Given the description of an element on the screen output the (x, y) to click on. 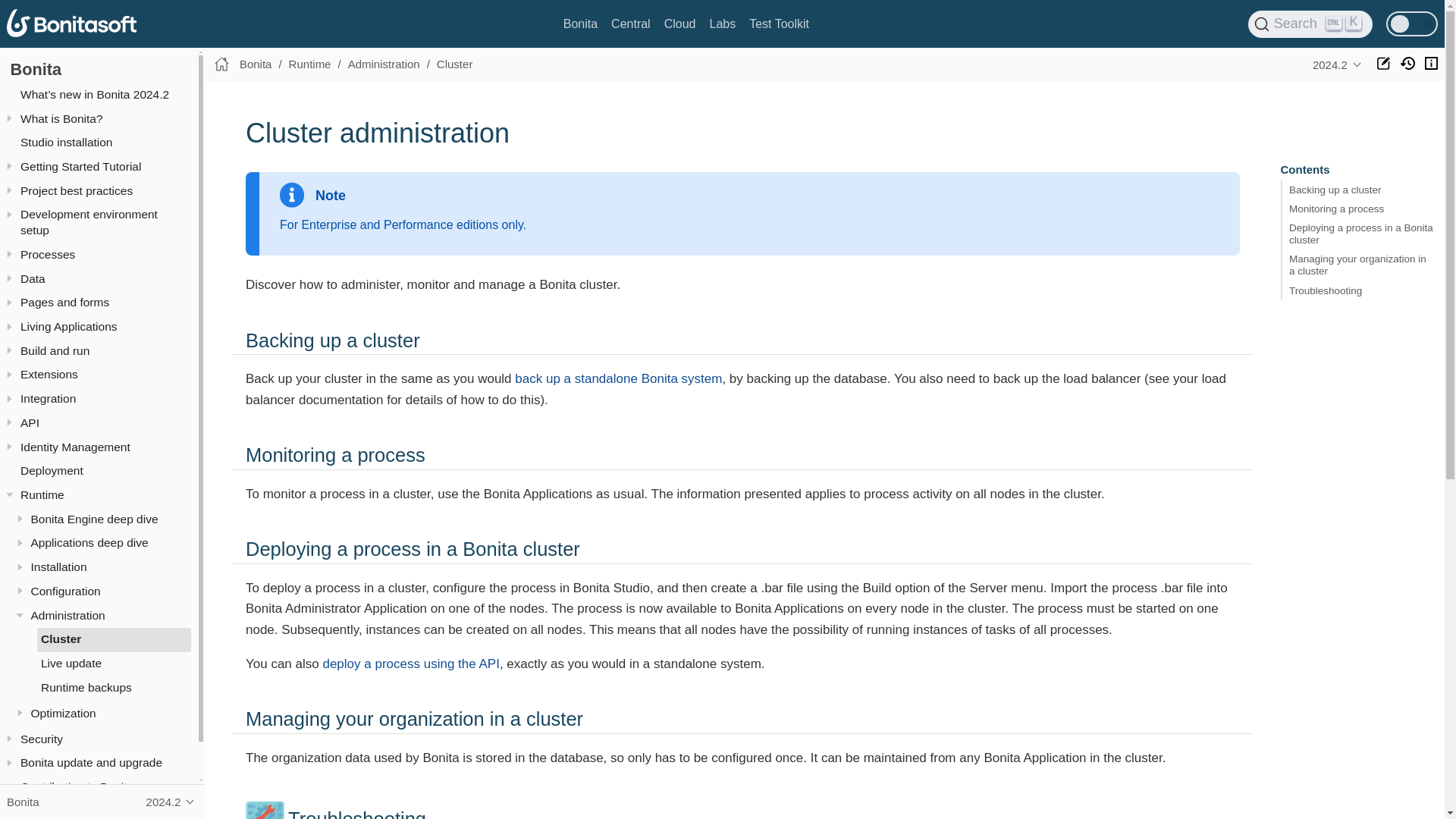
How to contribute (1431, 62)
Show other versions of page (1337, 64)
Getting Started Tutorial (103, 167)
Labs (722, 24)
Edit this page (1310, 23)
Bonita (1383, 62)
What is Bonita? (35, 68)
Bonita (103, 119)
Central (579, 24)
Cloud (630, 24)
History of this page (679, 24)
Studio installation (1407, 62)
Test Toolkit (103, 143)
Note (779, 24)
